Given the description of an element on the screen output the (x, y) to click on. 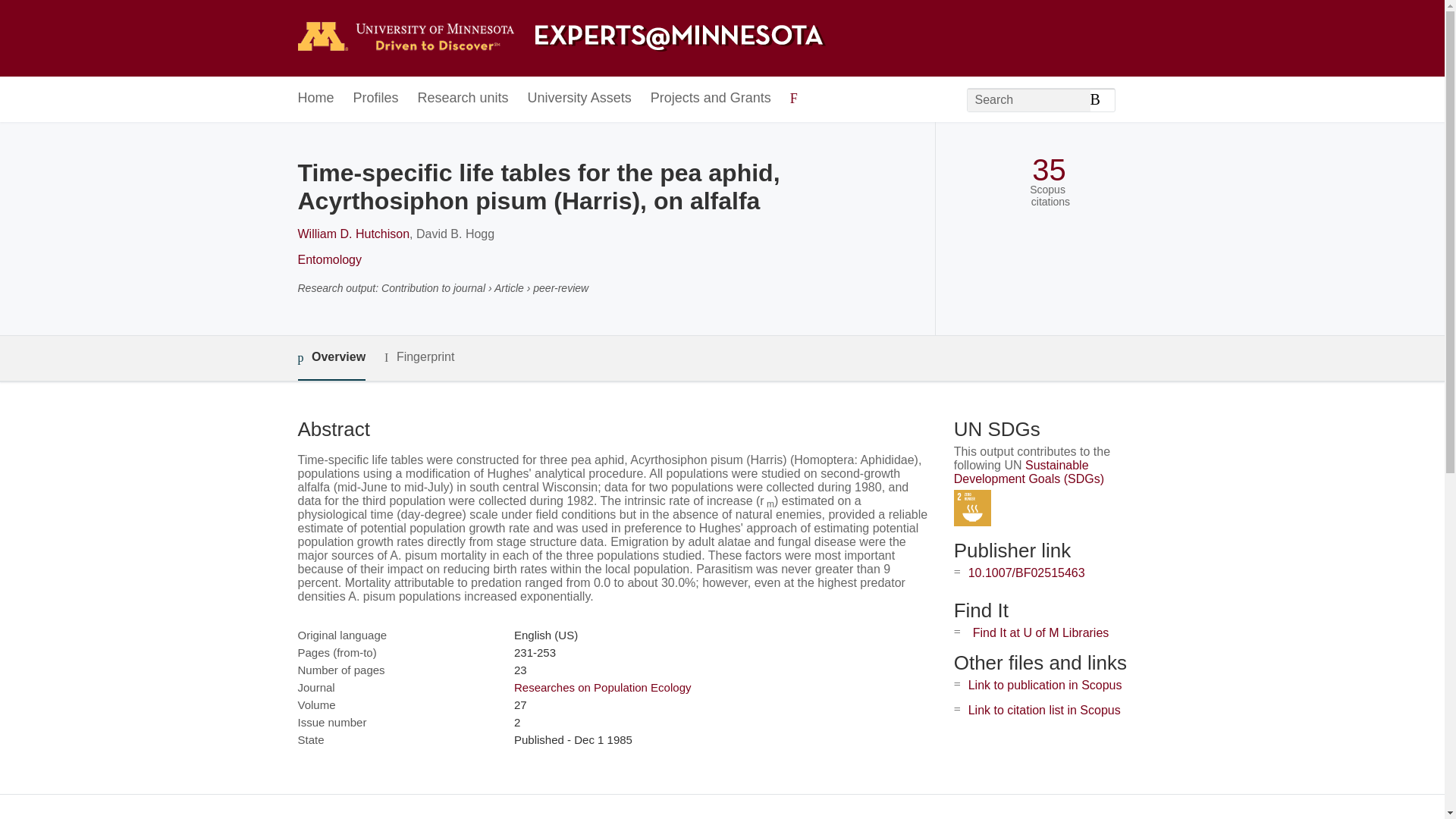
35 (1048, 170)
Find It at U of M Libraries (1040, 632)
Fingerprint (419, 357)
Research units (462, 98)
Researches on Population Ecology (601, 686)
Entomology (329, 259)
SDG 2 - Zero Hunger (972, 508)
Link to citation list in Scopus (1044, 709)
Projects and Grants (710, 98)
University Assets (579, 98)
Profiles (375, 98)
Overview (331, 357)
Link to publication in Scopus (1045, 684)
William D. Hutchison (353, 233)
